Given the description of an element on the screen output the (x, y) to click on. 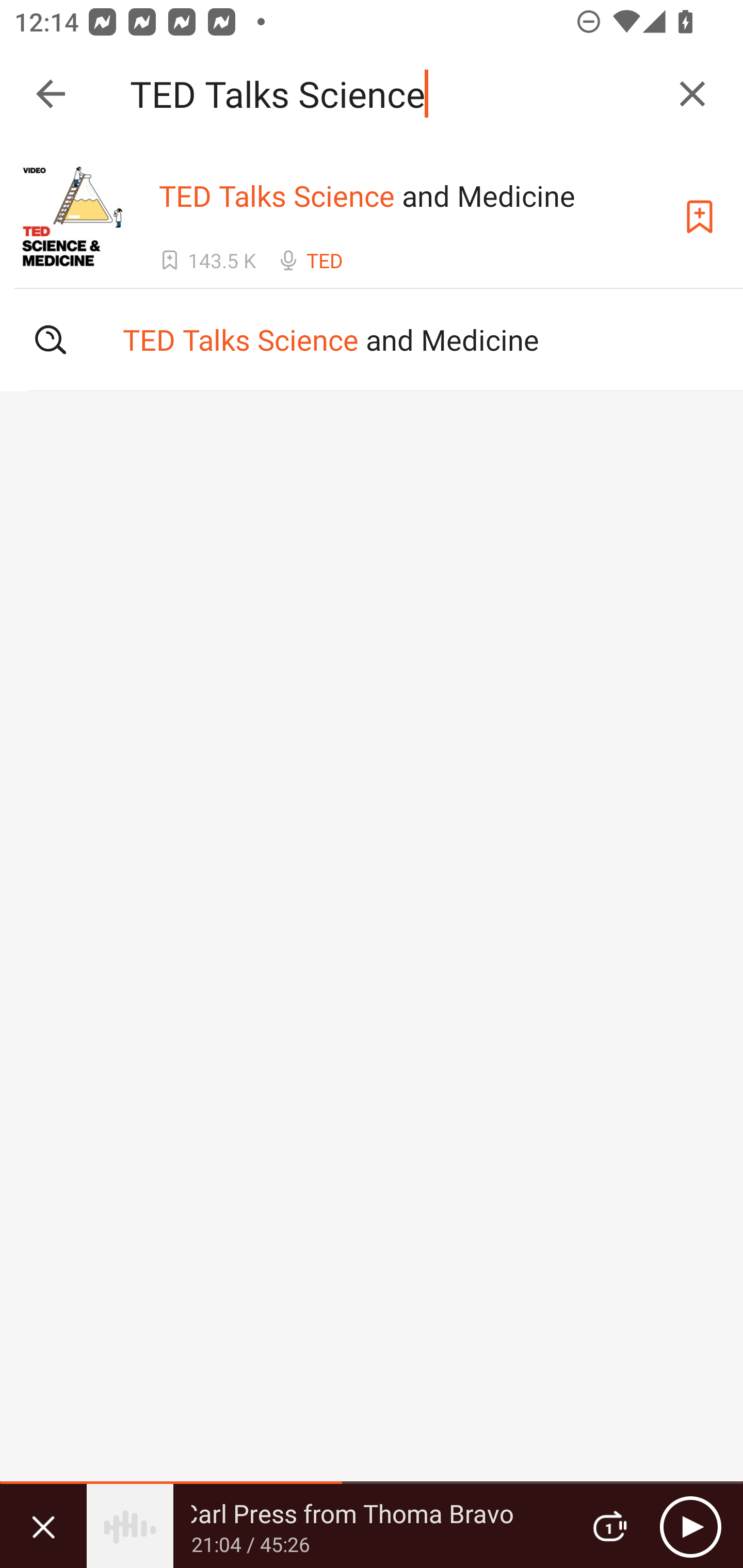
Collapse (50, 93)
Clear query (692, 93)
TED Talks Science (393, 94)
Subscribe (699, 216)
 TED Talks Science and Medicine (371, 339)
Play (690, 1526)
